Given the description of an element on the screen output the (x, y) to click on. 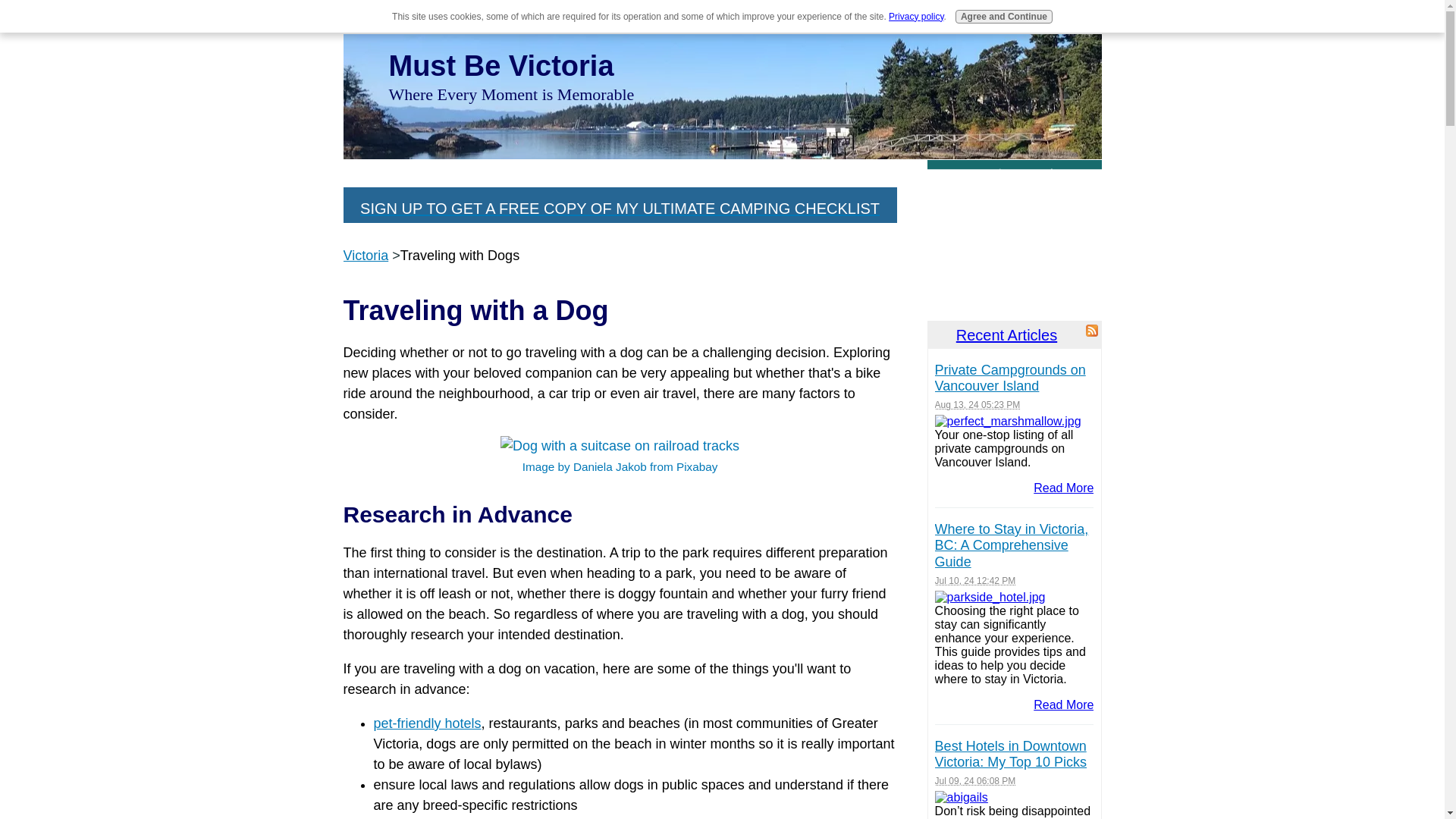
Must Be Victoria (500, 65)
2024-08-13T17:23:04-0400 (977, 404)
Dog with a suitcase on railroad tracks (619, 457)
Dog with a suitcase on railroad tracks (619, 445)
pet-friendly hotels (426, 723)
2024-07-09T18:08:26-0400 (975, 780)
2024-07-10T12:42:04-0400 (975, 580)
Image by Daniela Jakob from Pixabay (619, 457)
SIGN UP TO GET A FREE COPY OF MY ULTIMATE CAMPING CHECKLIST (619, 208)
Victoria (365, 255)
